Given the description of an element on the screen output the (x, y) to click on. 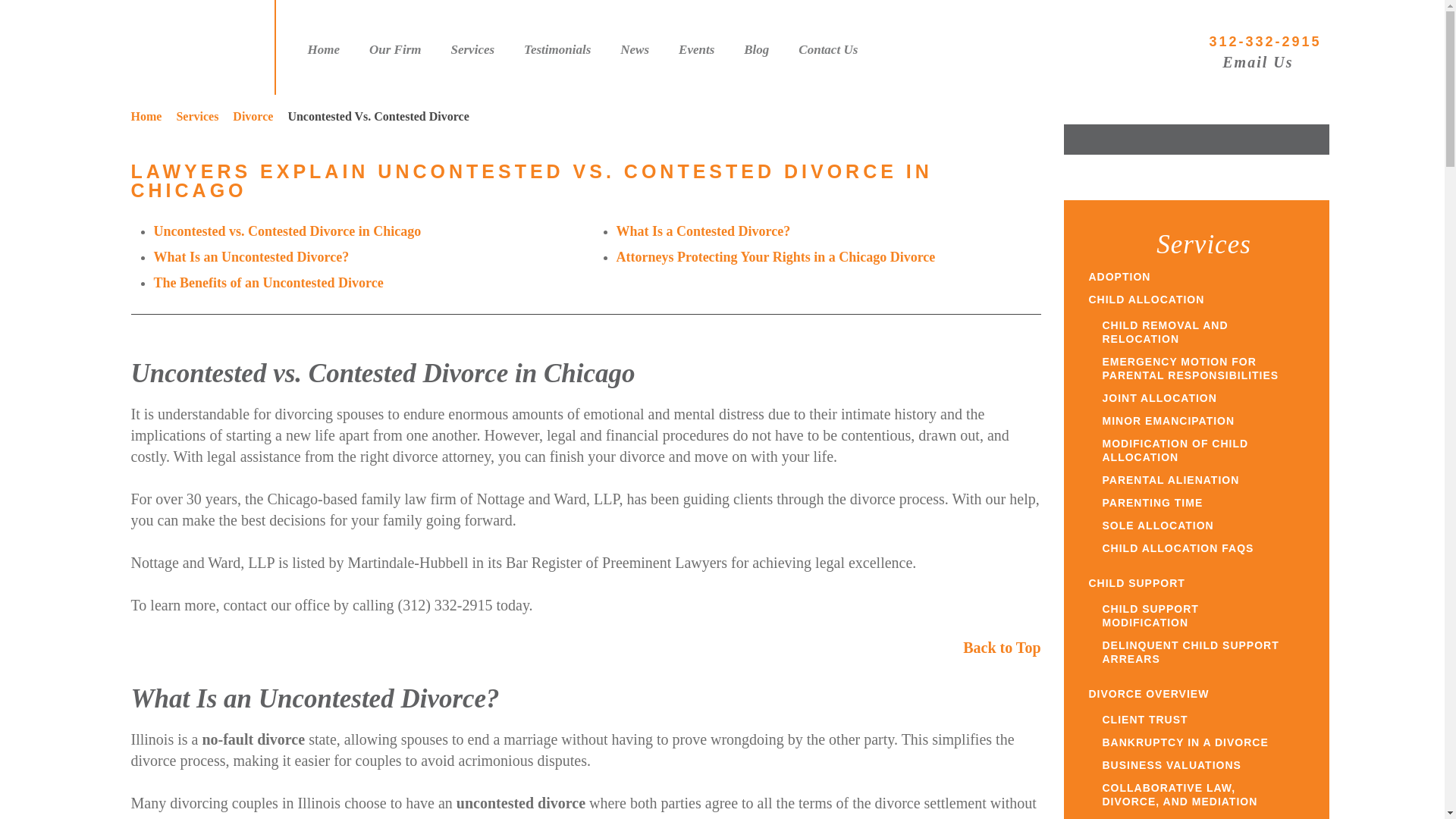
What Is an Uncontested Divorce? (250, 256)
Testimonials (557, 49)
Attorneys Protecting Your Rights in a Chicago Divorce (774, 256)
Blog (755, 49)
News (634, 49)
Events (695, 49)
The Benefits of an Uncontested Divorce (267, 282)
Back to Top (1001, 647)
Contact Us (828, 49)
Divorce (257, 115)
